Given the description of an element on the screen output the (x, y) to click on. 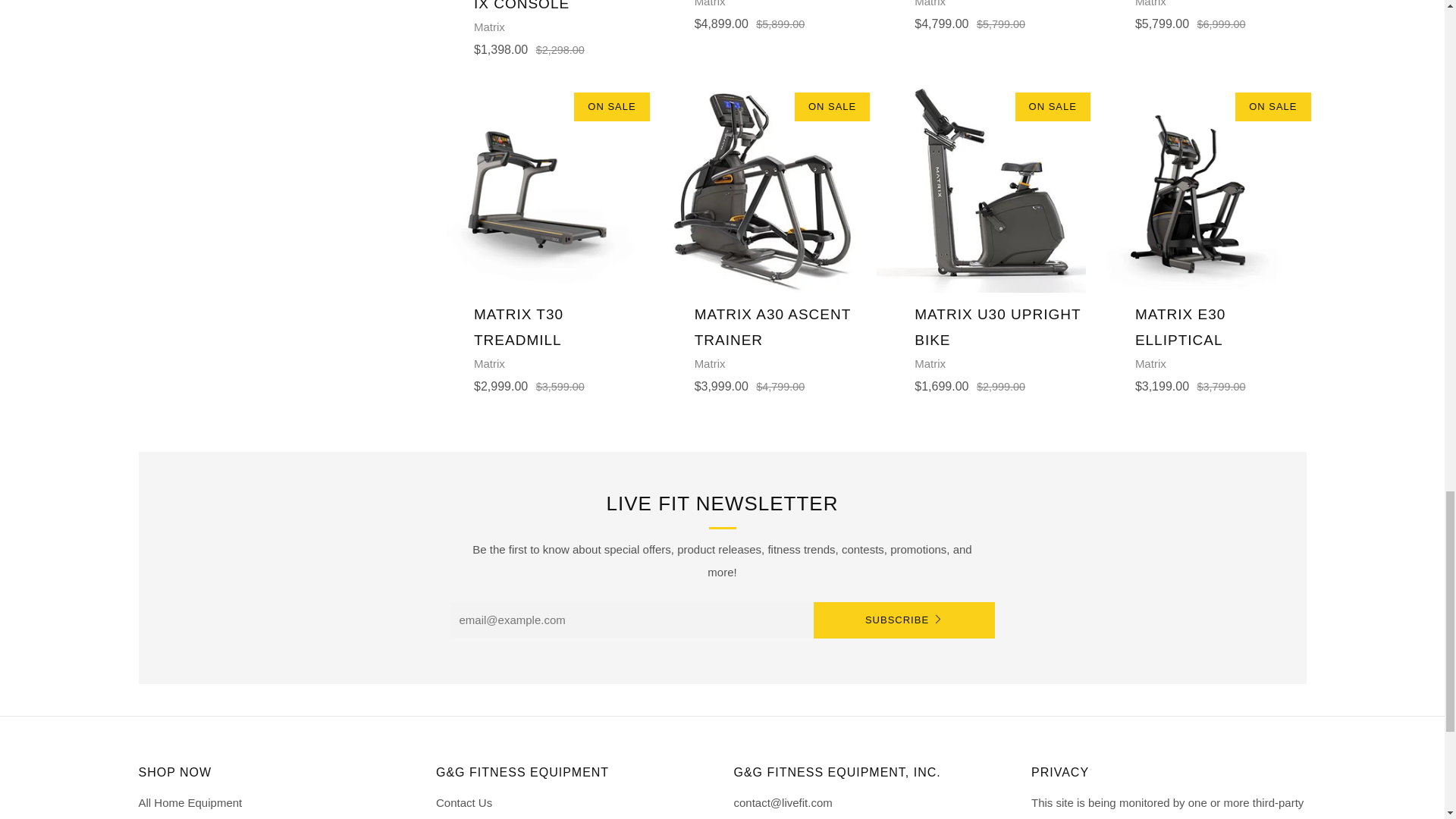
Matrix C50 Climbmill (981, 15)
Matrix ICR50 Indoor Cycle with IX Console (540, 28)
Matrix T75 Treadmill (761, 15)
Matrix T50 Treadmill (1201, 15)
